Given the description of an element on the screen output the (x, y) to click on. 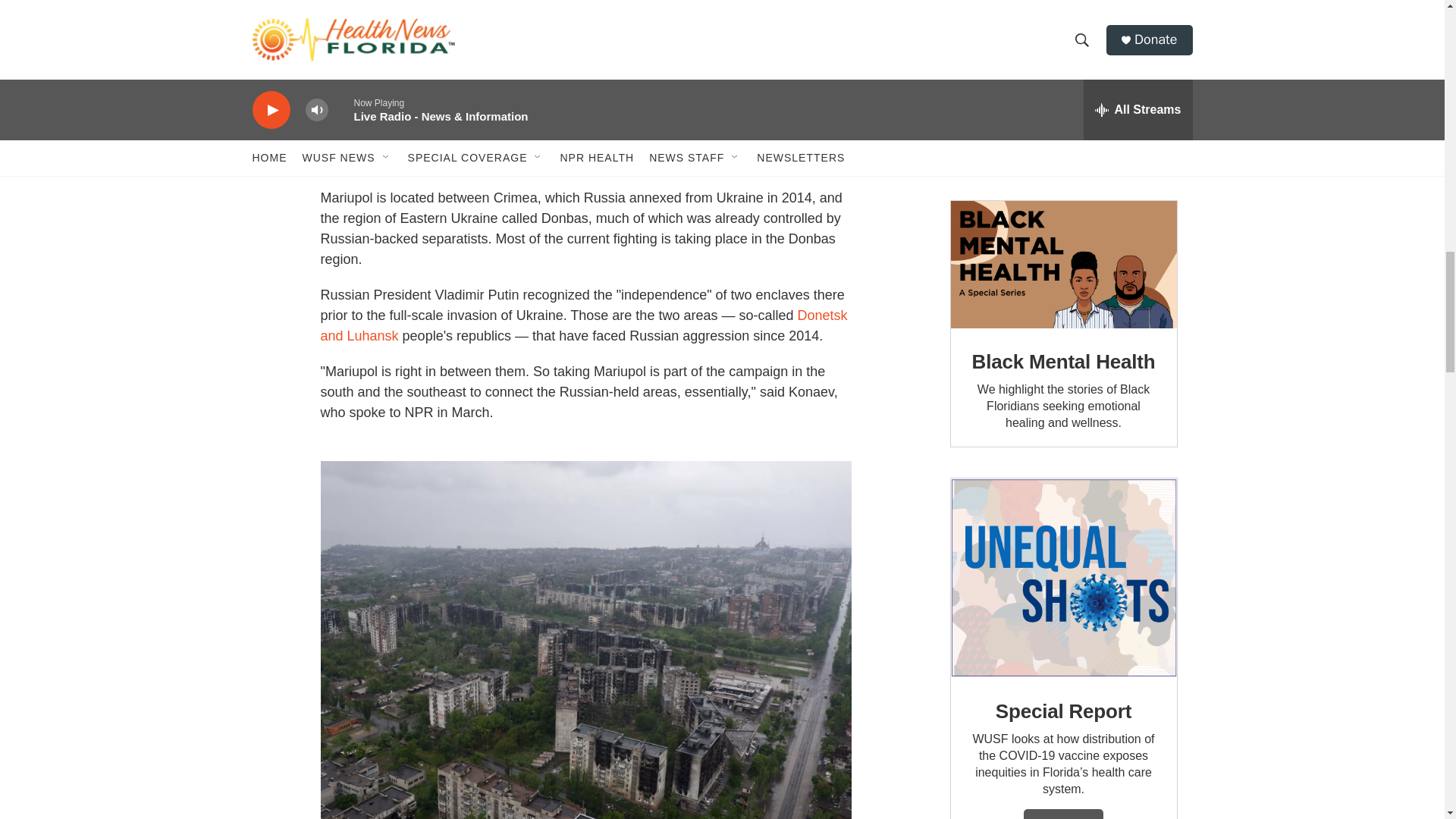
3rd party ad content (1062, 84)
